Given the description of an element on the screen output the (x, y) to click on. 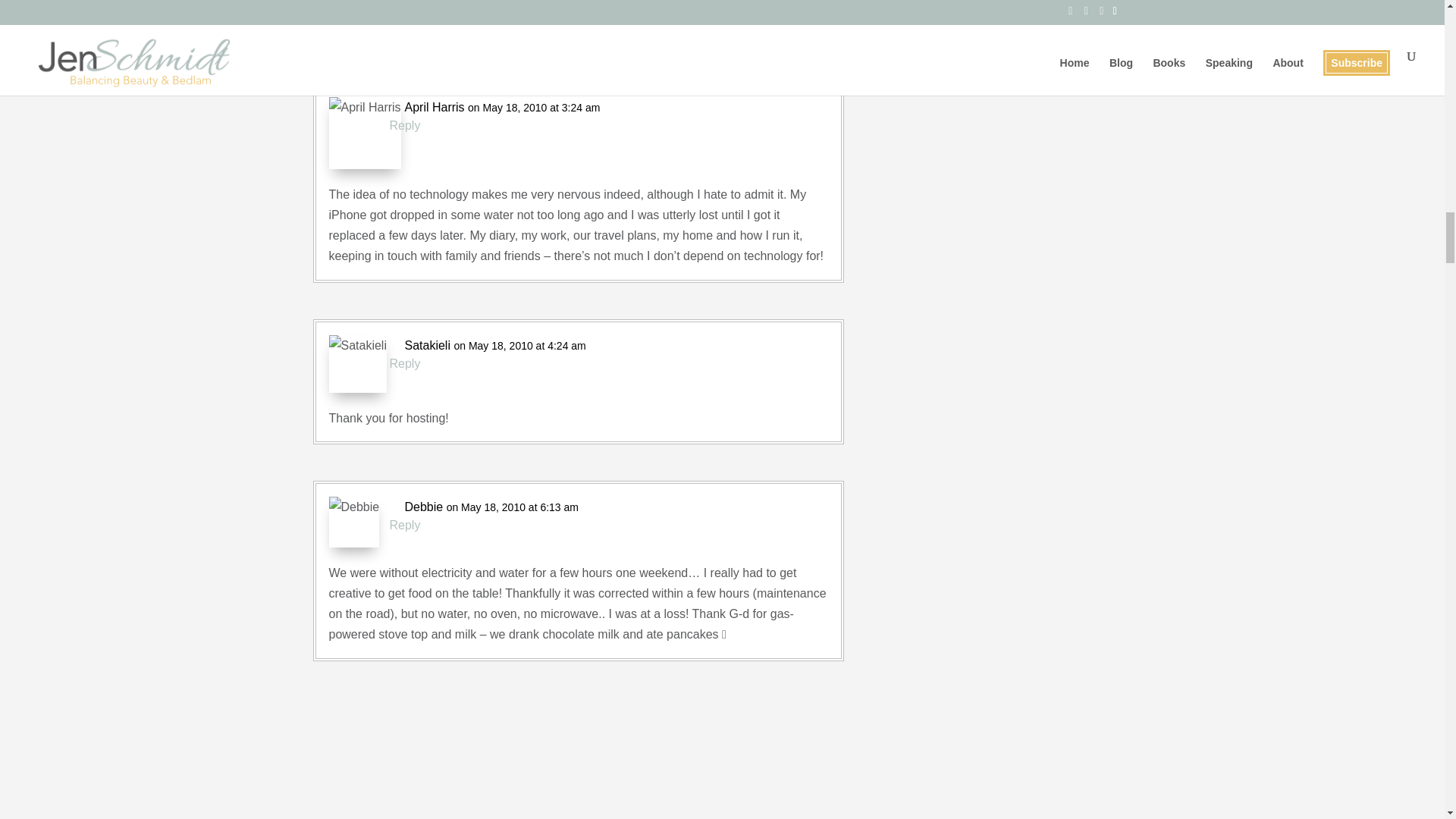
Debbie (424, 506)
Reply (405, 362)
Satakieli (426, 344)
Reply (405, 525)
April Harris (434, 107)
Reply (405, 125)
